Given the description of an element on the screen output the (x, y) to click on. 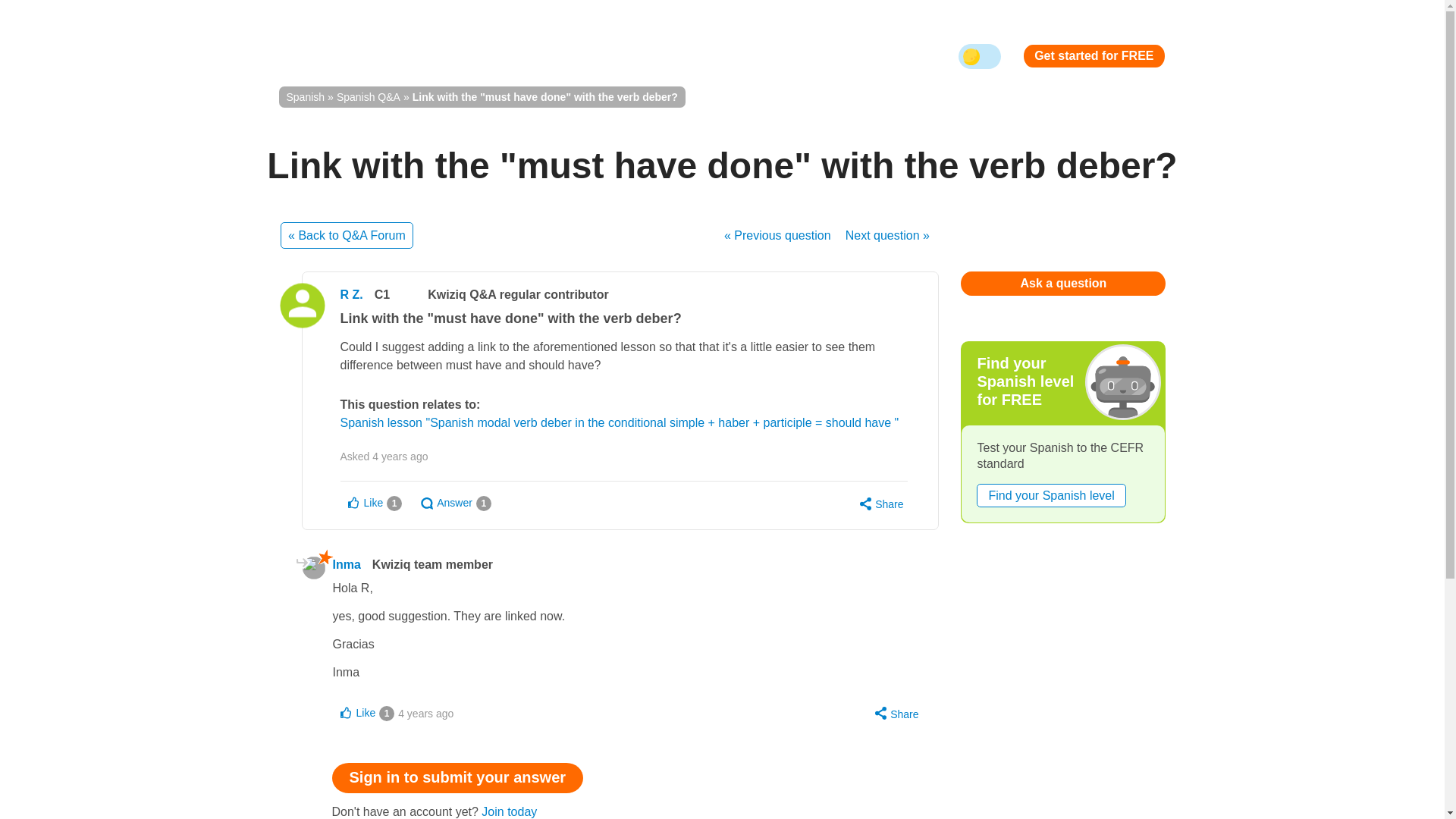
Pricing (728, 56)
Sign in (790, 56)
For teachers (650, 56)
How Kwiziq works (463, 56)
2nd August 2020 (424, 713)
Explore (565, 56)
31st July 2020 (400, 456)
Toggle Dark Mode (979, 56)
